Given the description of an element on the screen output the (x, y) to click on. 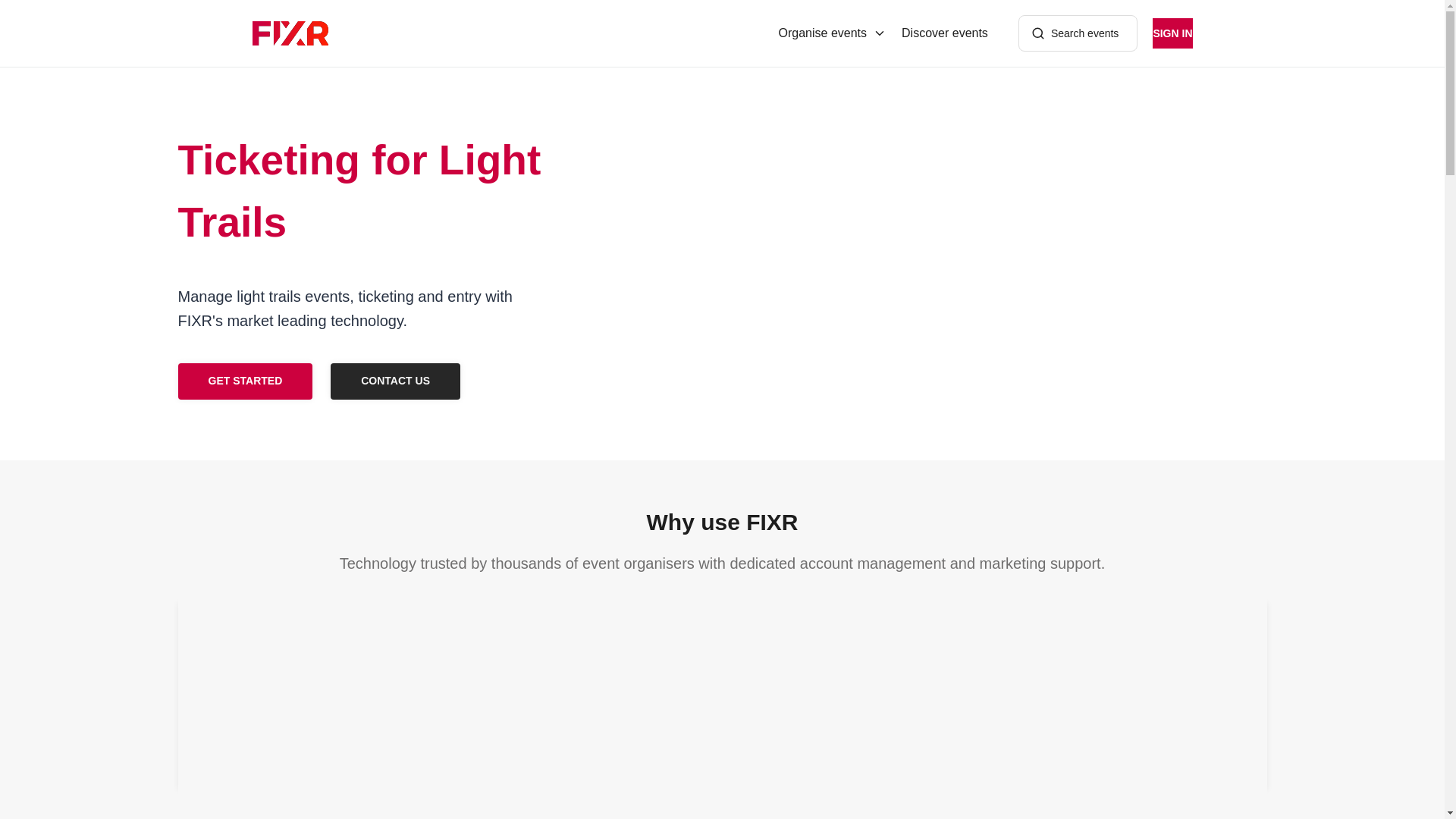
GET STARTED (245, 380)
Search events (1077, 33)
SIGN IN (1172, 33)
CONTACT US (395, 380)
Organise events (832, 33)
Discover events (944, 33)
